Given the description of an element on the screen output the (x, y) to click on. 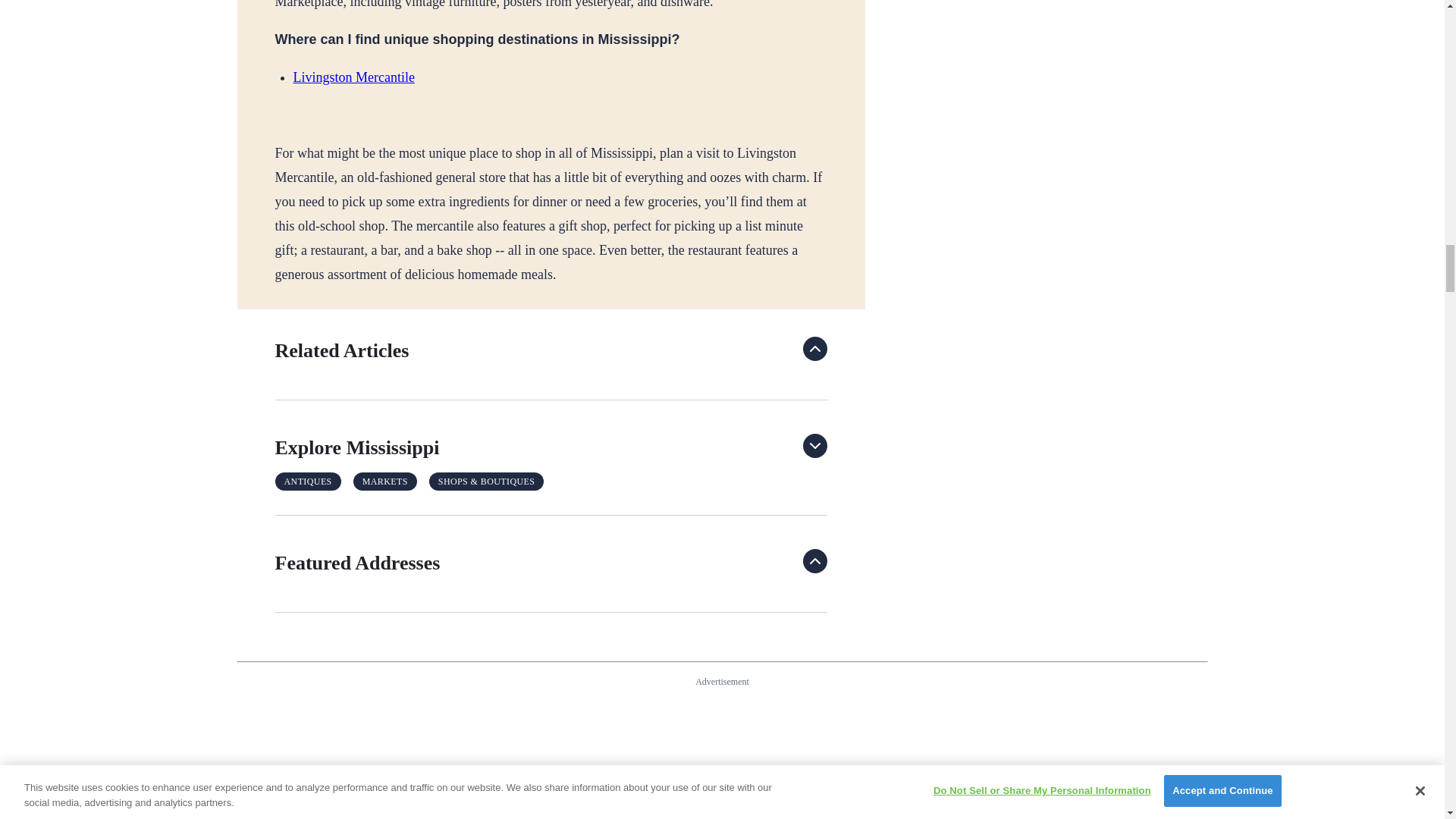
Markets (384, 481)
Antiques (307, 481)
